Given the description of an element on the screen output the (x, y) to click on. 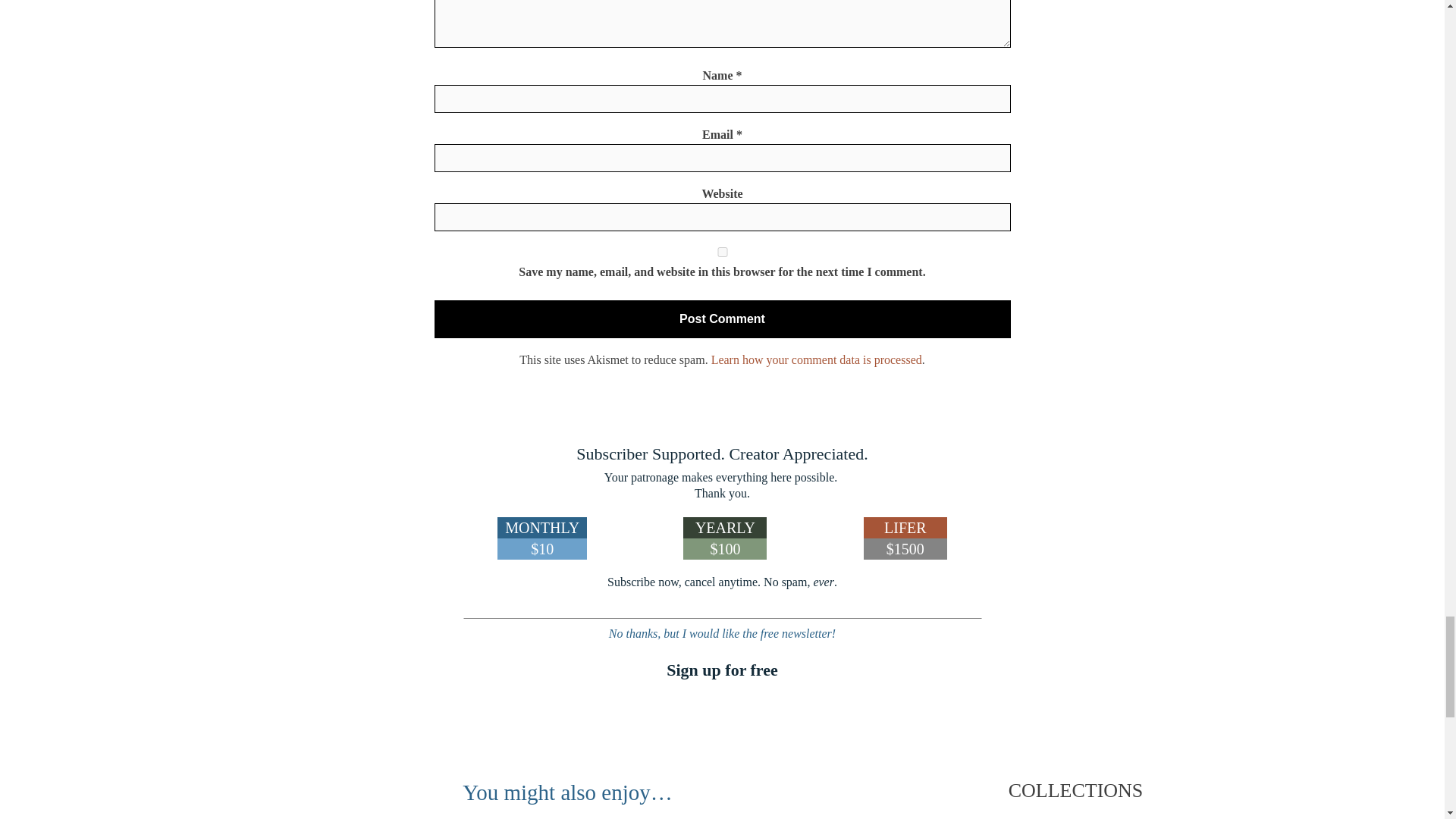
Post Comment (721, 319)
yes (721, 252)
